Given the description of an element on the screen output the (x, y) to click on. 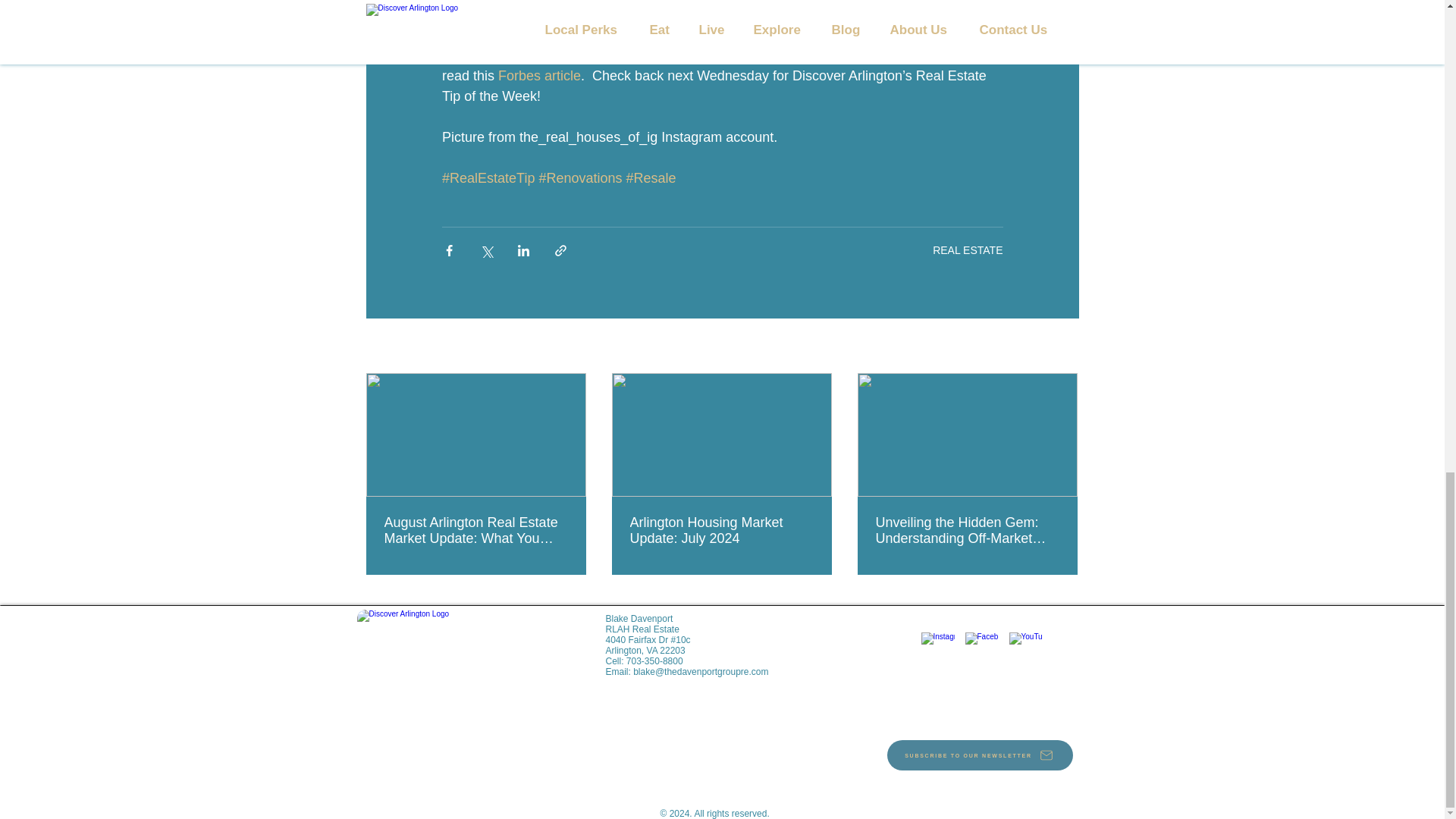
See All (1061, 346)
REAL ESTATE (968, 249)
Forbes article (538, 75)
